Given the description of an element on the screen output the (x, y) to click on. 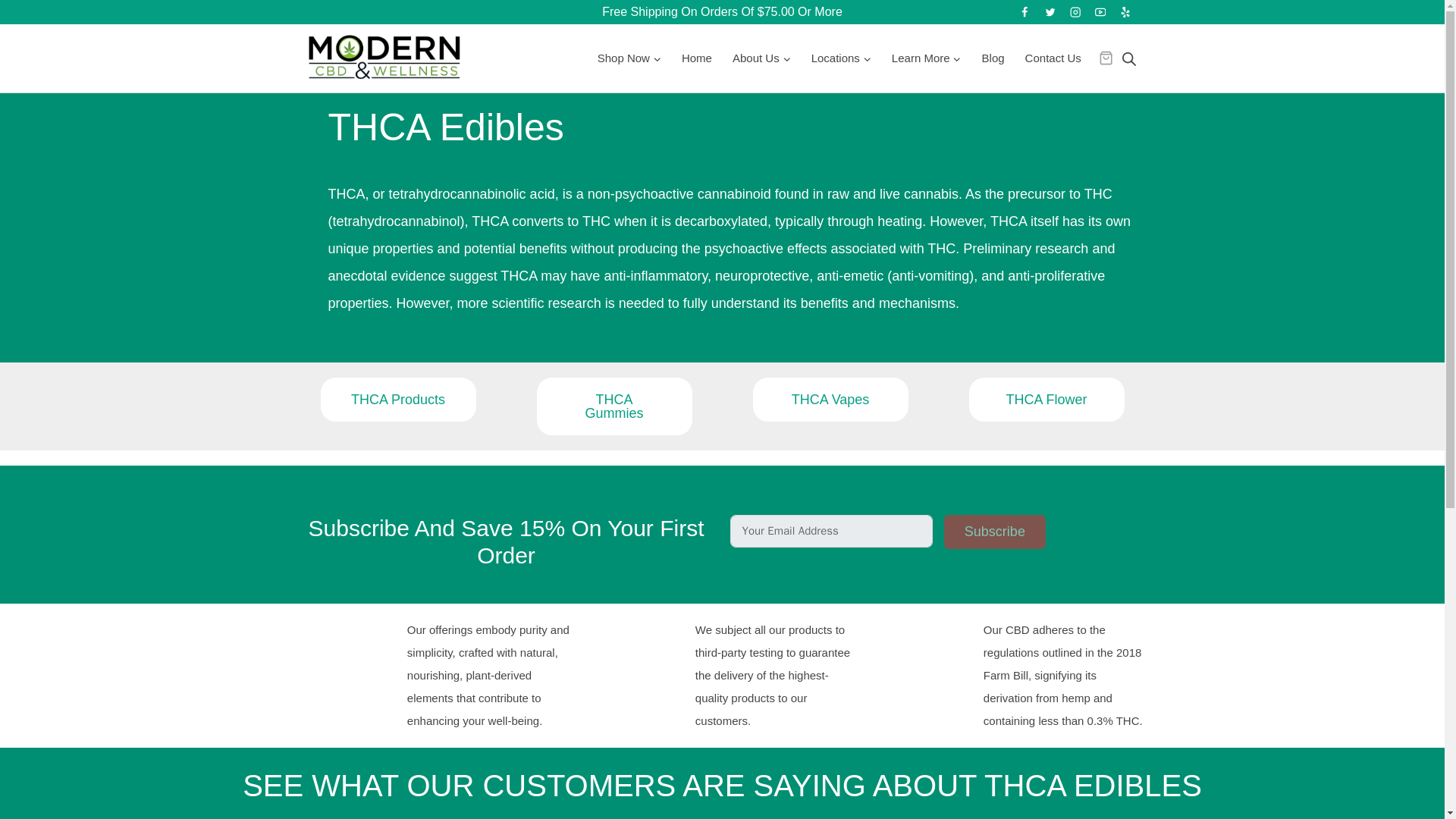
Locations (840, 57)
About Us (761, 57)
Shop Now (628, 57)
Learn More (925, 57)
Home (696, 57)
